Given the description of an element on the screen output the (x, y) to click on. 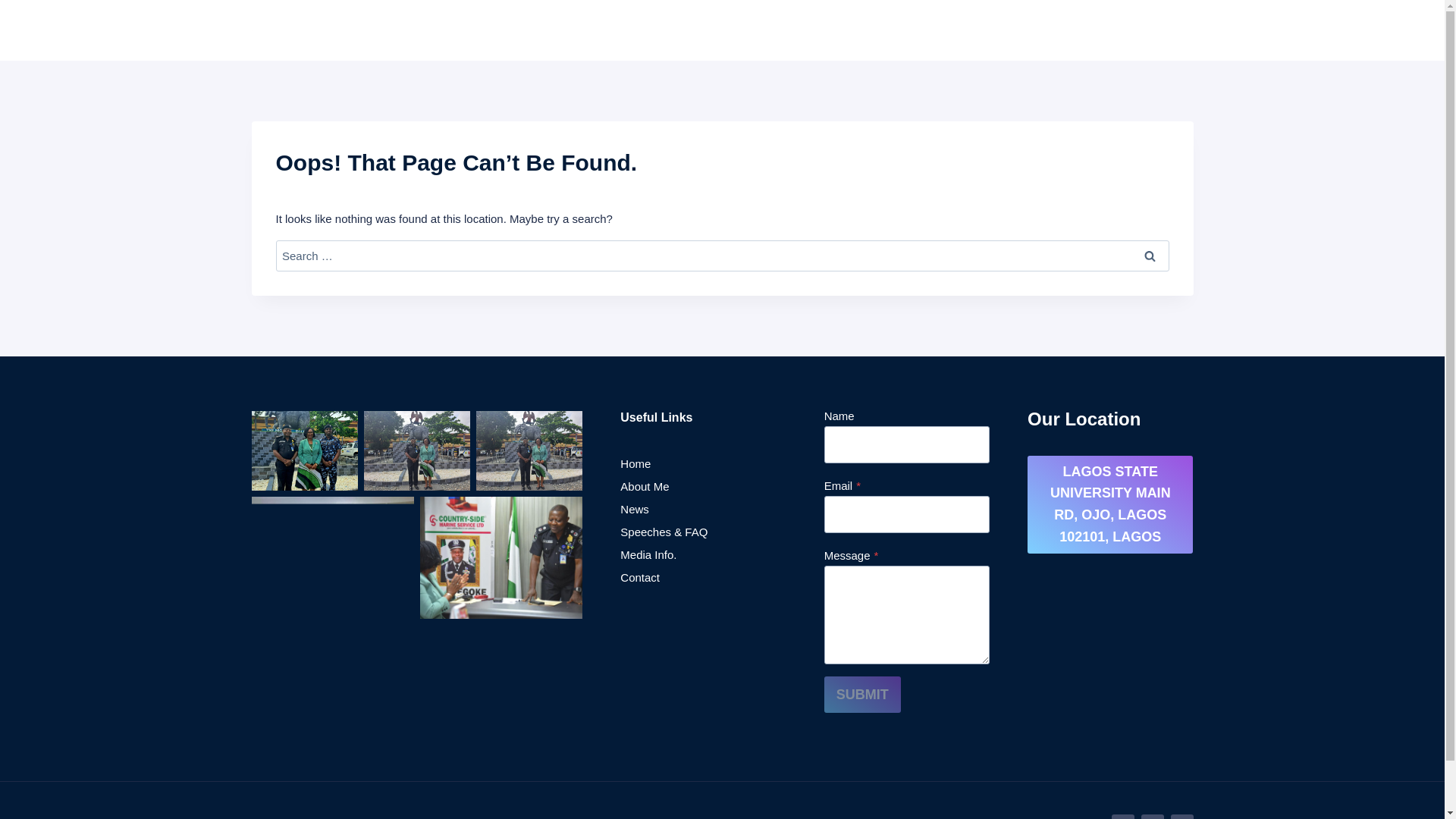
About Me (644, 30)
Search (1150, 255)
News (703, 508)
Contact (703, 576)
Search (1150, 255)
News (968, 30)
Search (1150, 255)
SUBMIT (862, 694)
Gallery (1107, 30)
LAGOS STATE UNIVERSITY MAIN RD, OJO, LAGOS 102101, LAGOS (1109, 504)
About Me (703, 486)
Home (587, 30)
Home (703, 463)
Media Info. (703, 553)
Contact (1164, 30)
